Given the description of an element on the screen output the (x, y) to click on. 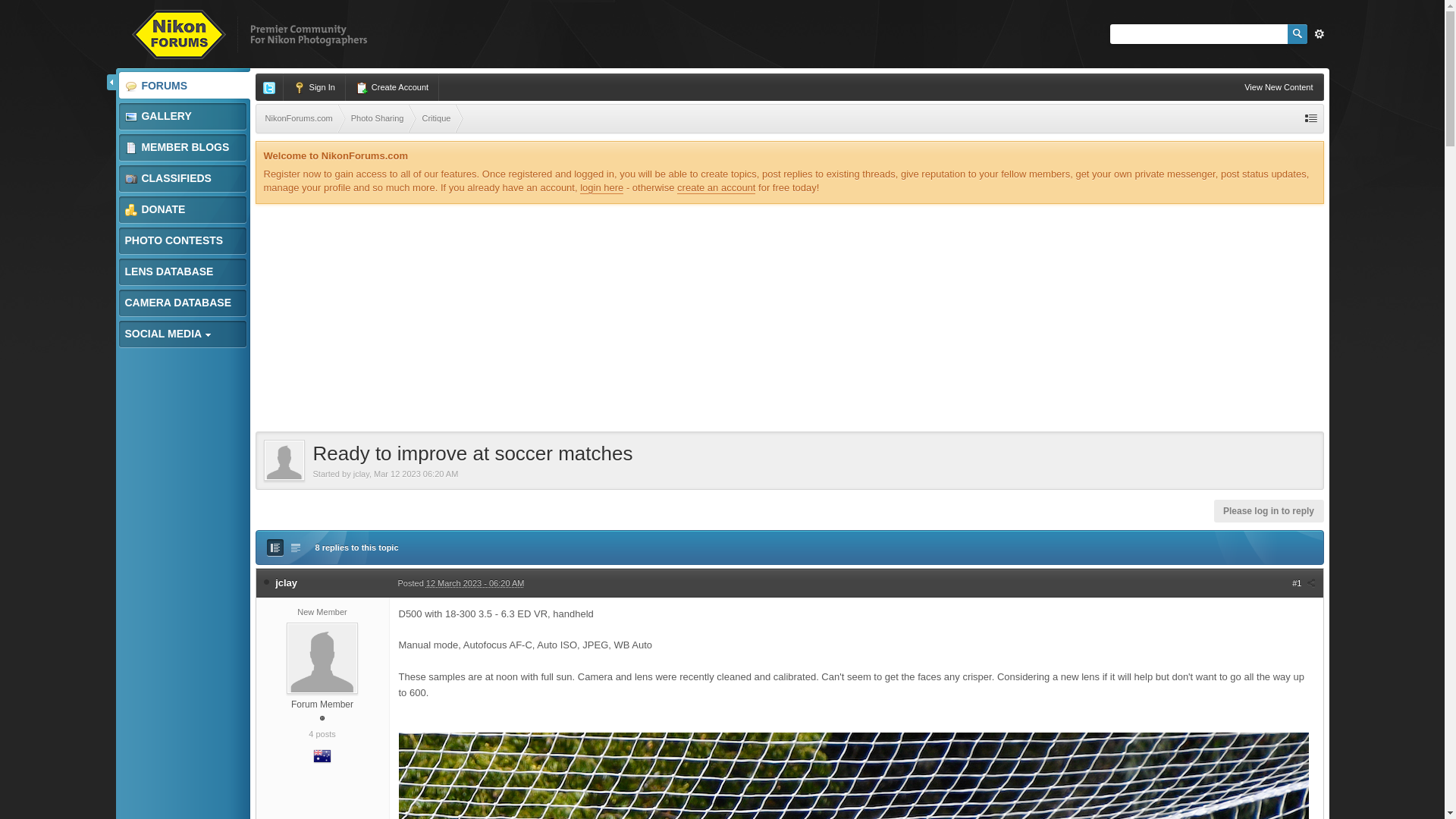
MEMBER BLOGS (181, 147)
GALLERY (181, 116)
Search (1297, 34)
create an account (716, 187)
Critique (436, 118)
SOCIAL MEDIA (181, 334)
PHOTO CONTESTS (181, 240)
Advanced (1317, 34)
FORUMS (181, 85)
jclay (286, 582)
Sign In (314, 86)
NikonForums.com (301, 118)
jclay (361, 473)
CAMERA DATABASE (181, 302)
View New Content (1278, 86)
